Given the description of an element on the screen output the (x, y) to click on. 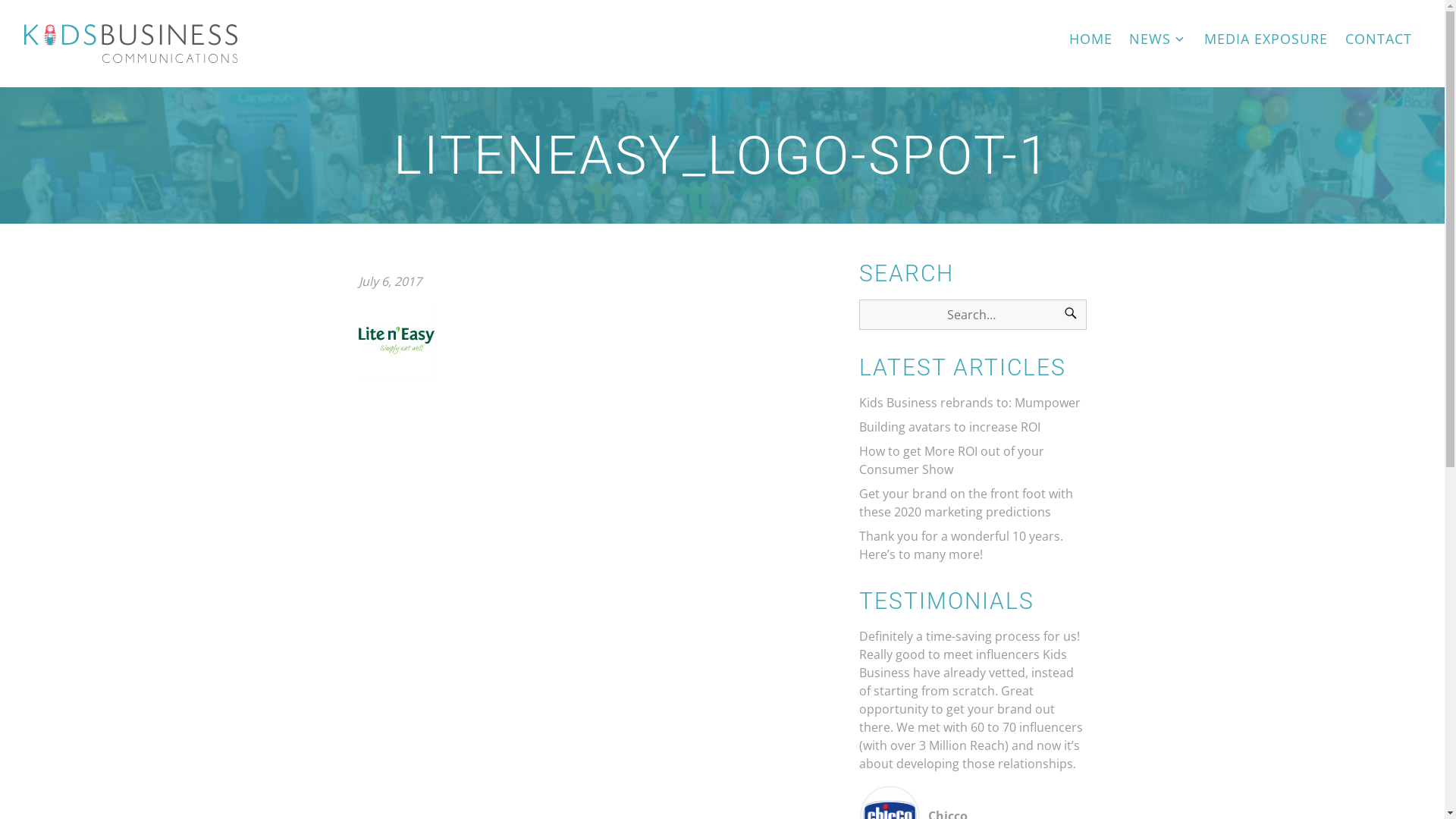
CONTACT Element type: text (1378, 38)
Search Element type: hover (1069, 314)
July 6, 2017 Element type: text (388, 281)
Building avatars to increase ROI Element type: text (948, 426)
MEDIA EXPOSURE Element type: text (1265, 38)
Return to homepage Element type: hover (131, 43)
NEWS Element type: text (1157, 38)
Kids Business rebrands to: Mumpower Element type: text (968, 402)
How to get More ROI out of your Consumer Show Element type: text (950, 459)
HOME Element type: text (1090, 38)
